Given the description of an element on the screen output the (x, y) to click on. 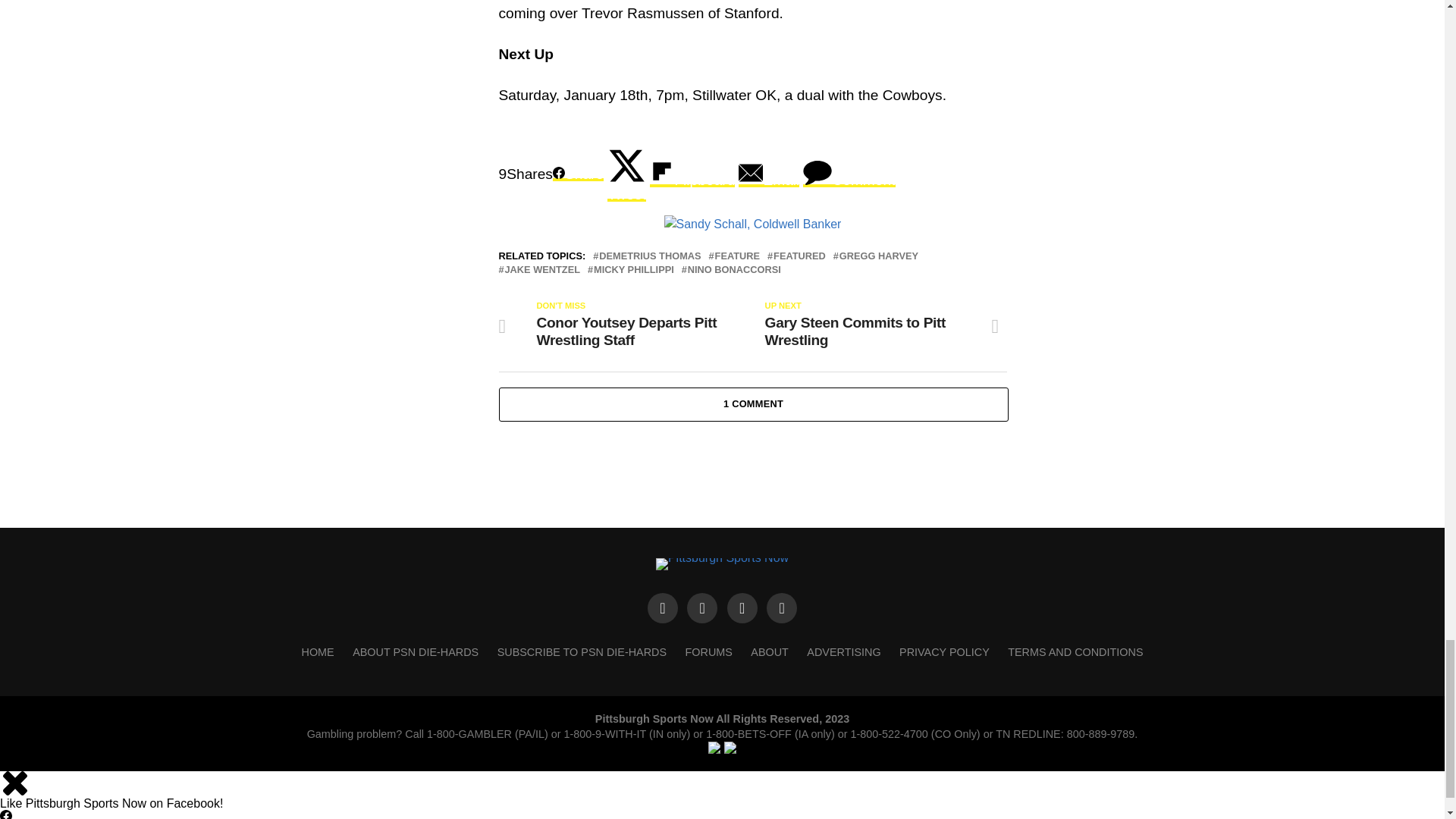
Share on Share (578, 173)
Share on Comment (849, 173)
Share on Email (768, 173)
Share on Flipboard (692, 173)
